Given the description of an element on the screen output the (x, y) to click on. 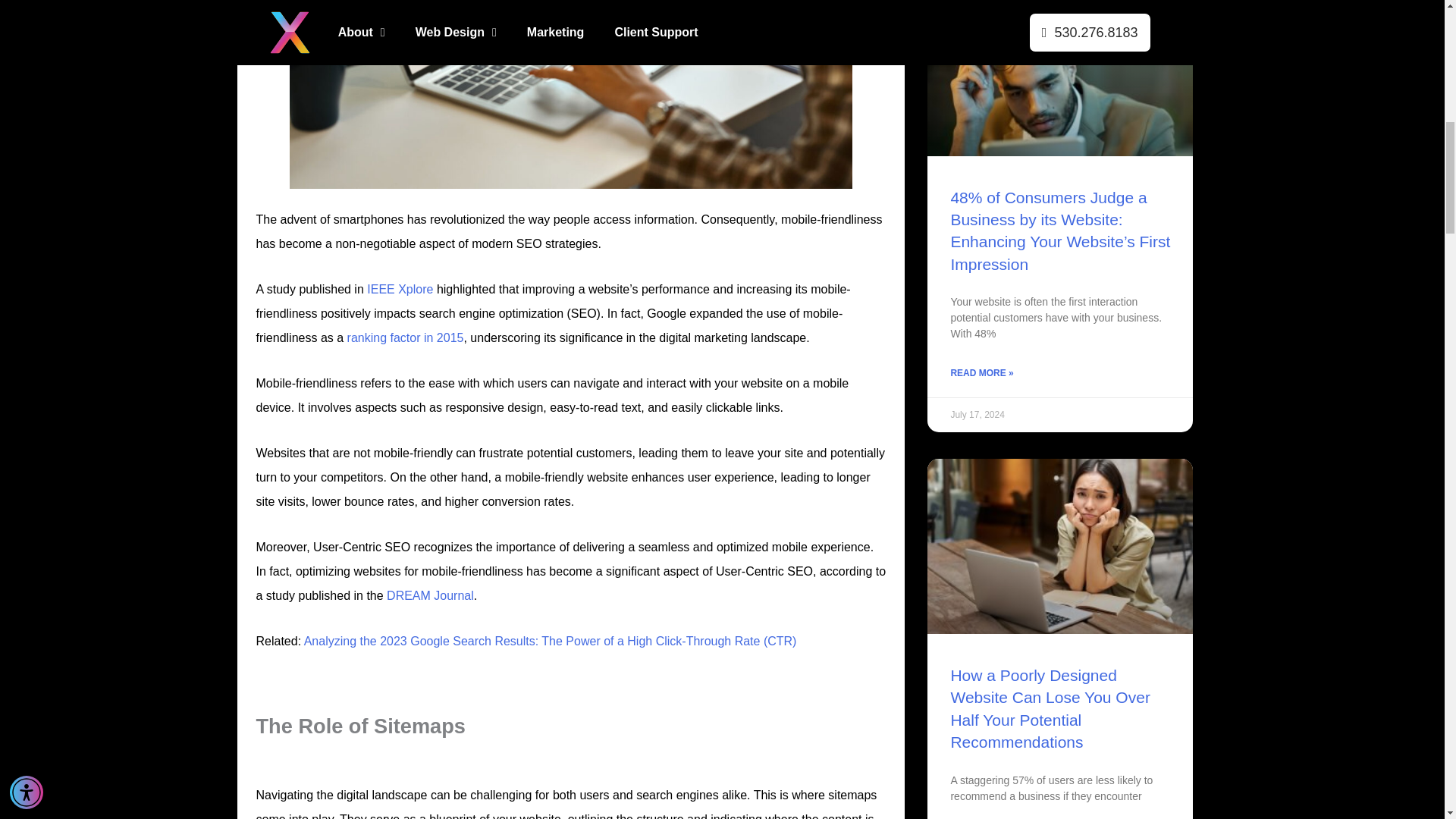
DREAM Journal (429, 594)
IEEE Xplore (398, 288)
ranking factor in 2015 (403, 337)
